Given the description of an element on the screen output the (x, y) to click on. 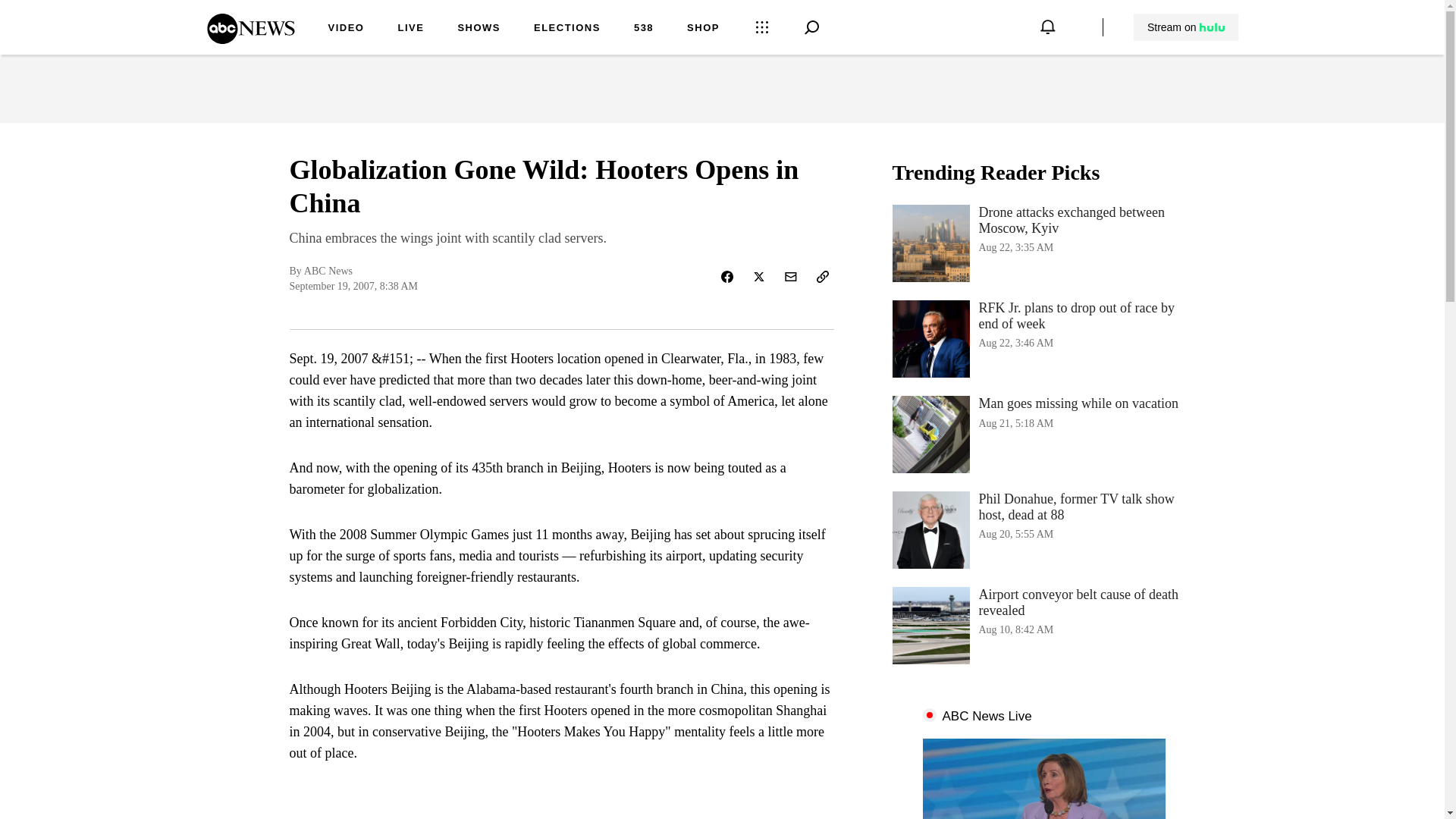
538 (643, 28)
ELECTIONS (566, 28)
SHOP (703, 28)
LIVE (1043, 242)
VIDEO (410, 28)
ABC News (345, 28)
Stream on (250, 38)
